Given the description of an element on the screen output the (x, y) to click on. 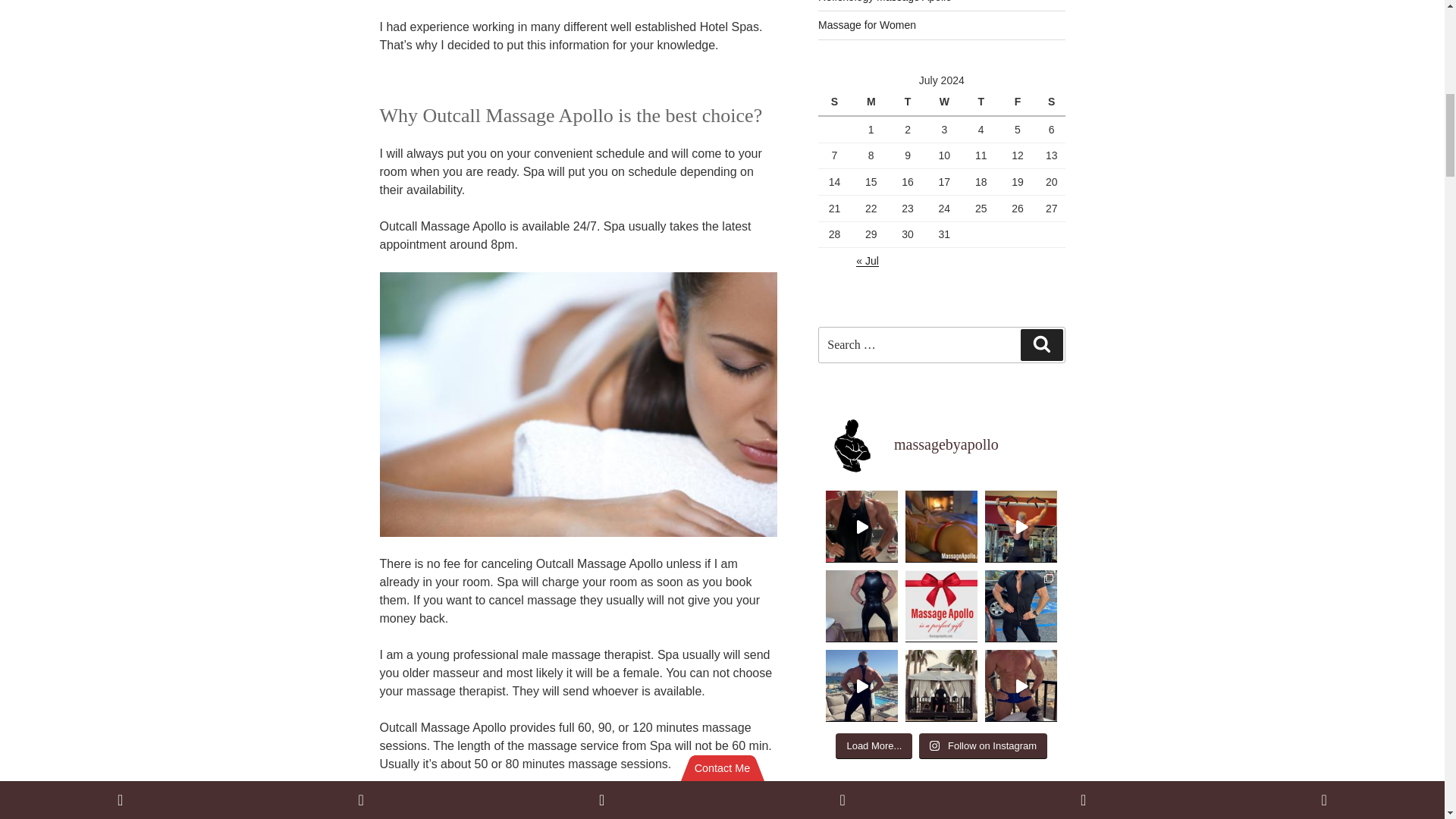
Reflexology Massage Apollo (885, 1)
Thursday (982, 102)
Saturday (1051, 102)
Friday (1019, 102)
Search (1041, 345)
massagebyapollo (941, 444)
Monday (872, 102)
Tuesday (909, 102)
Sunday (836, 102)
Wednesday (945, 102)
Massage for Women (866, 24)
